Given the description of an element on the screen output the (x, y) to click on. 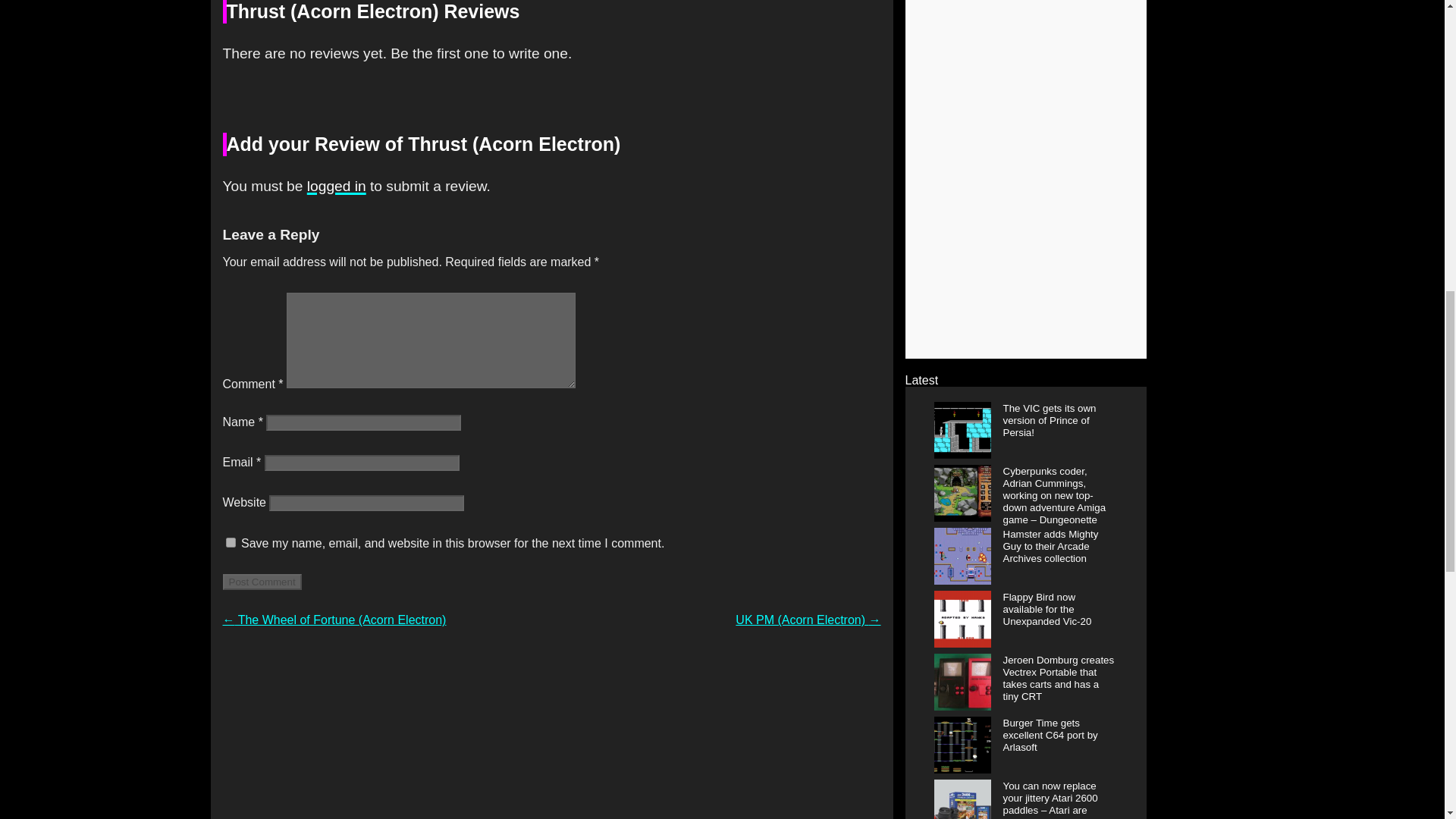
yes (230, 542)
logged in (336, 186)
Post Comment (261, 581)
Post Comment (261, 581)
